Given the description of an element on the screen output the (x, y) to click on. 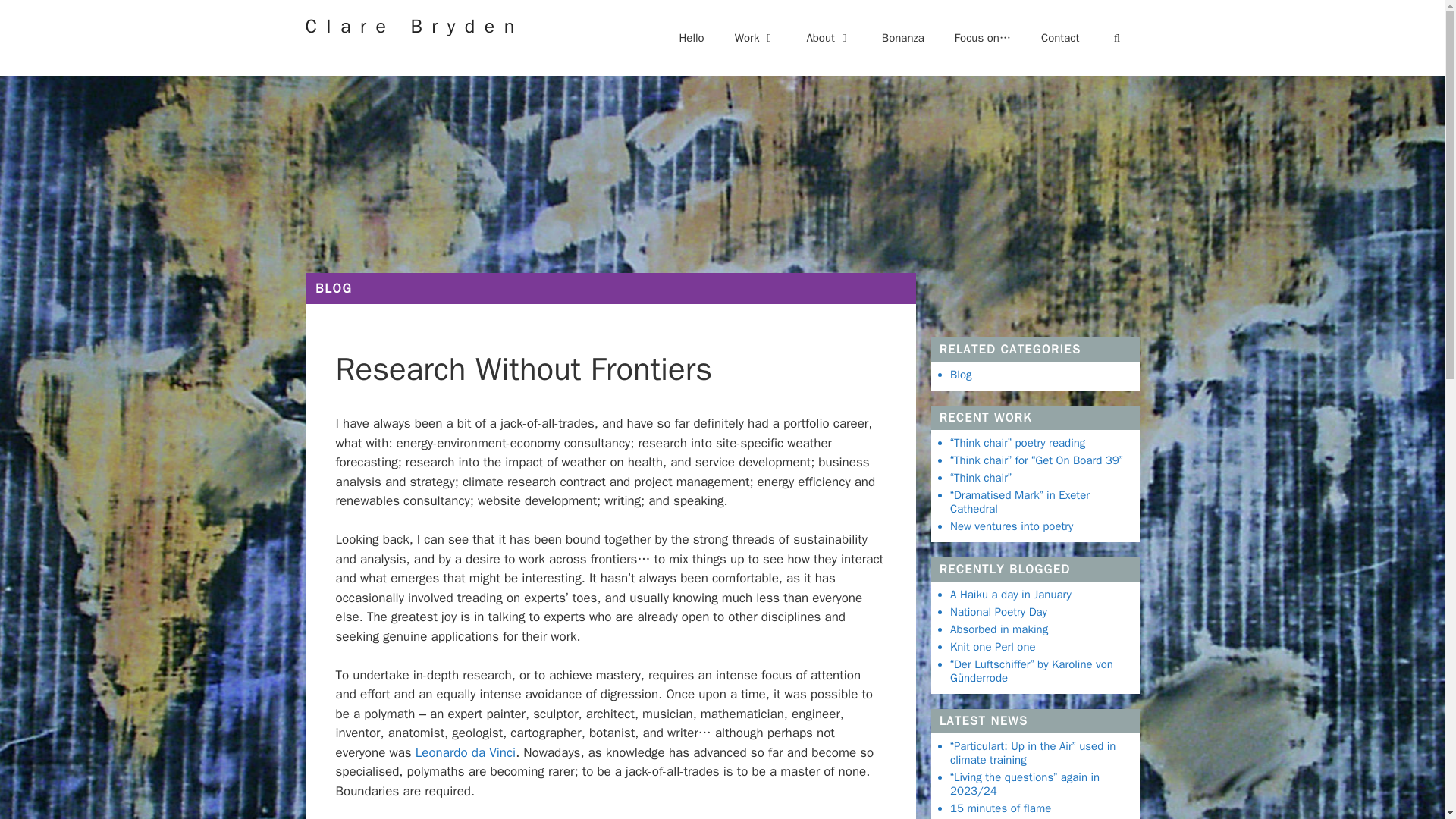
Hello (691, 37)
Blog (960, 373)
Leonardo da Vinci (464, 752)
About (828, 37)
BLOG (333, 288)
Bonanza (902, 37)
Clare Bryden (413, 25)
Blog (333, 288)
Contact (1060, 37)
Work (755, 37)
